Given the description of an element on the screen output the (x, y) to click on. 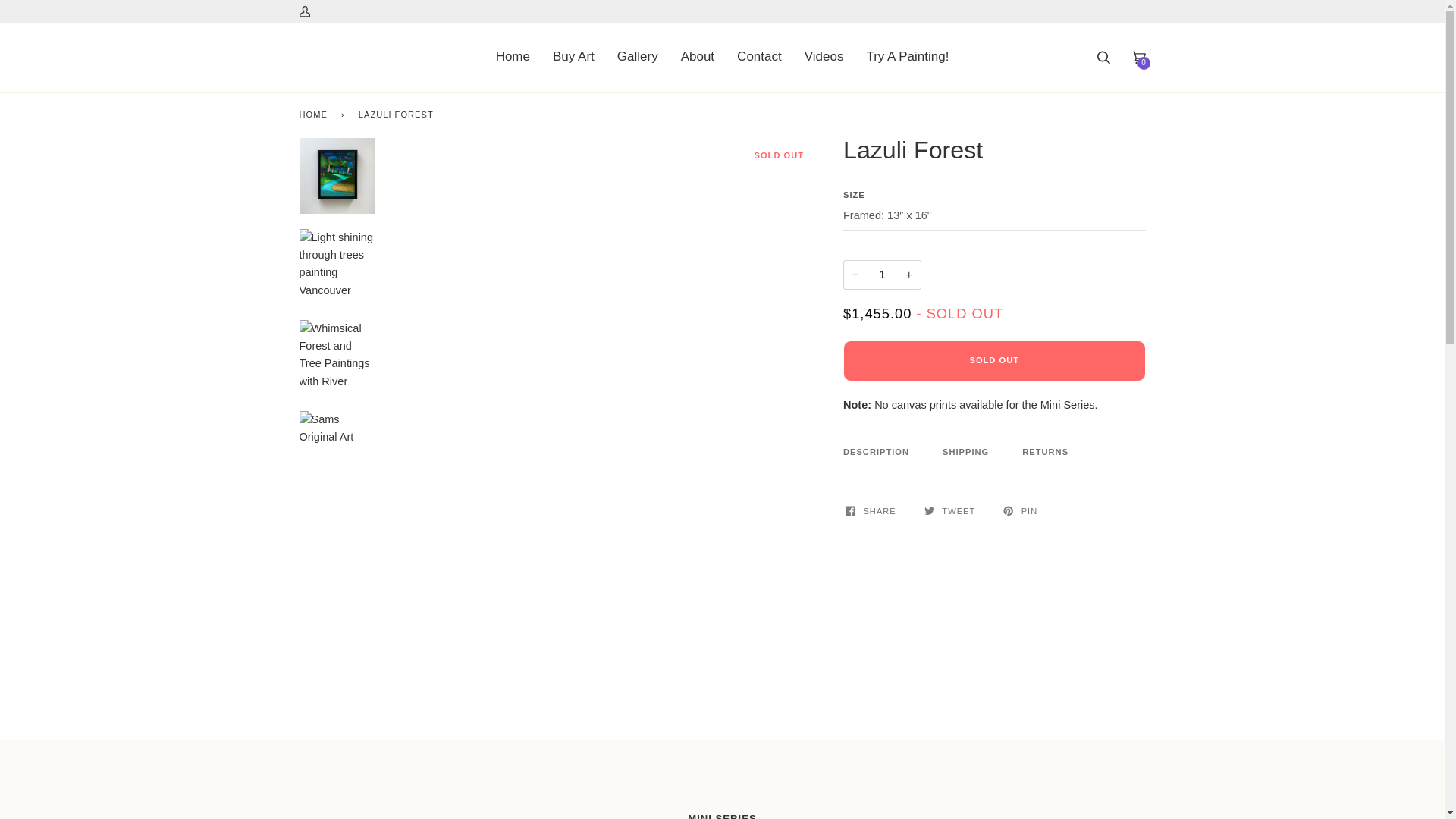
Try A Painting! (906, 56)
Search (1103, 56)
Back to the frontpage (314, 114)
My Account (309, 13)
Home (512, 56)
About (697, 56)
Videos (824, 56)
Buy Art (573, 56)
Contact (759, 56)
Gallery (637, 56)
1 (882, 274)
